Given the description of an element on the screen output the (x, y) to click on. 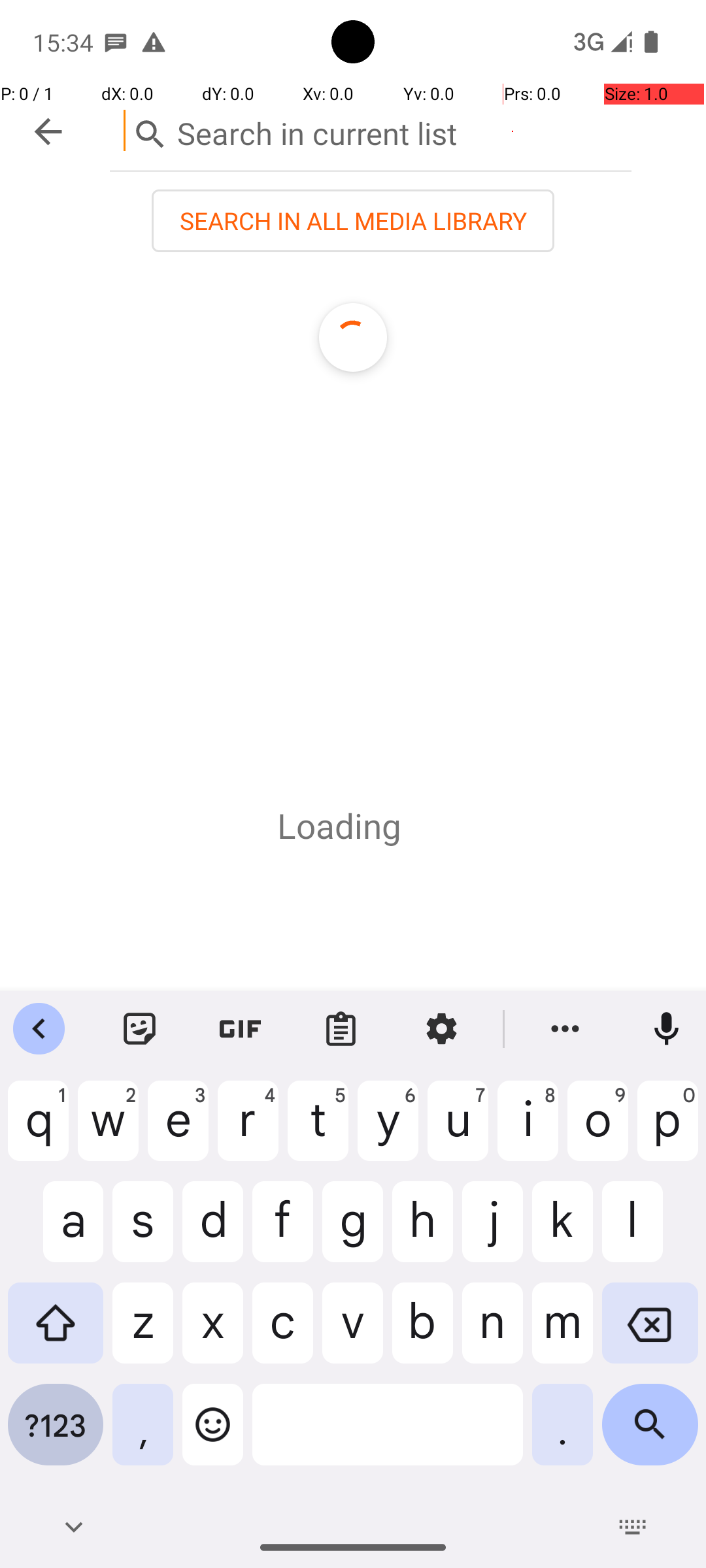
SEARCH IN ALL MEDIA LIBRARY Element type: android.widget.Button (352, 220)
Loading Element type: android.widget.TextView (339, 825)
   Search in current list Element type: android.widget.AutoCompleteTextView (370, 130)
